Given the description of an element on the screen output the (x, y) to click on. 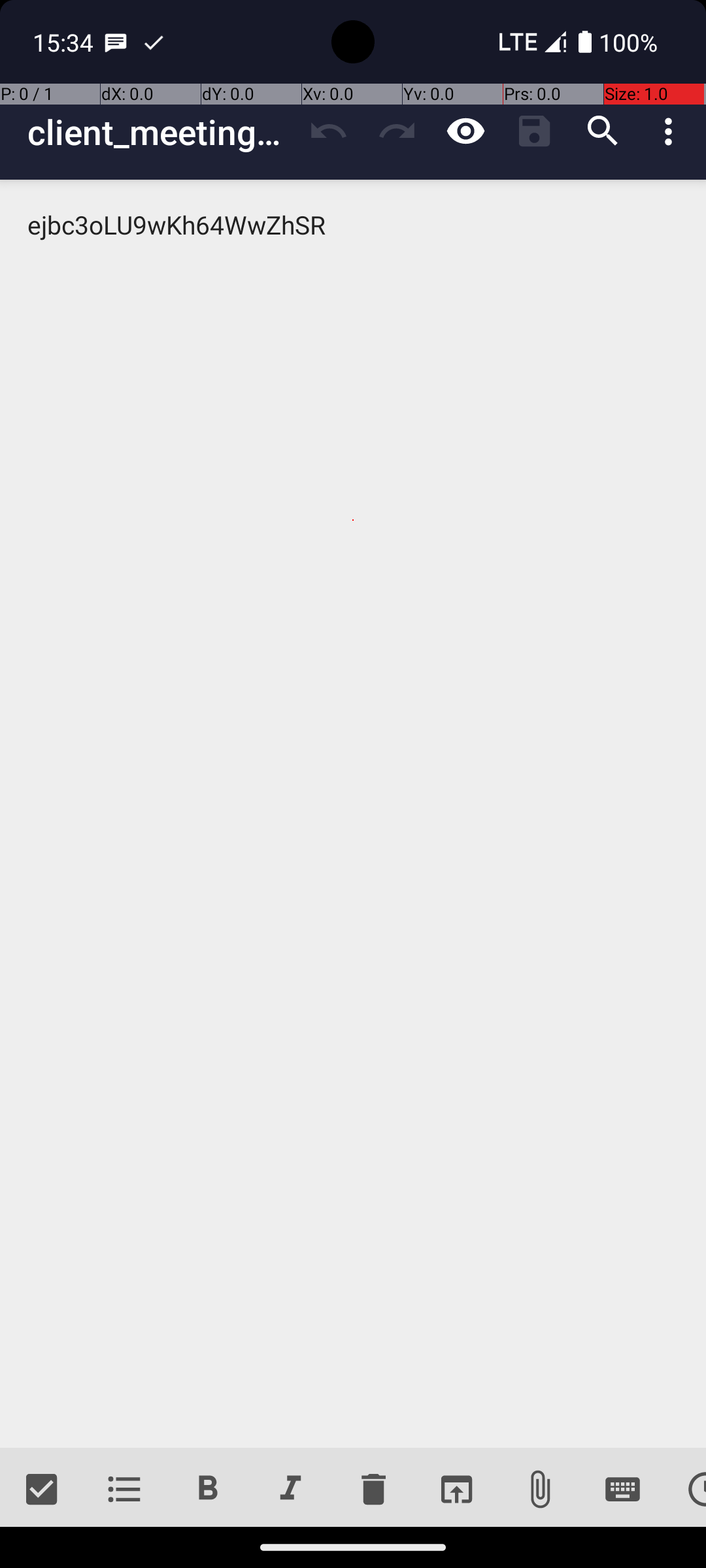
client_meetings_schedule_2023_08_13 Element type: android.widget.TextView (160, 131)
ejbc3oLU9wKh64WwZhSR
 Element type: android.widget.EditText (353, 813)
